Given the description of an element on the screen output the (x, y) to click on. 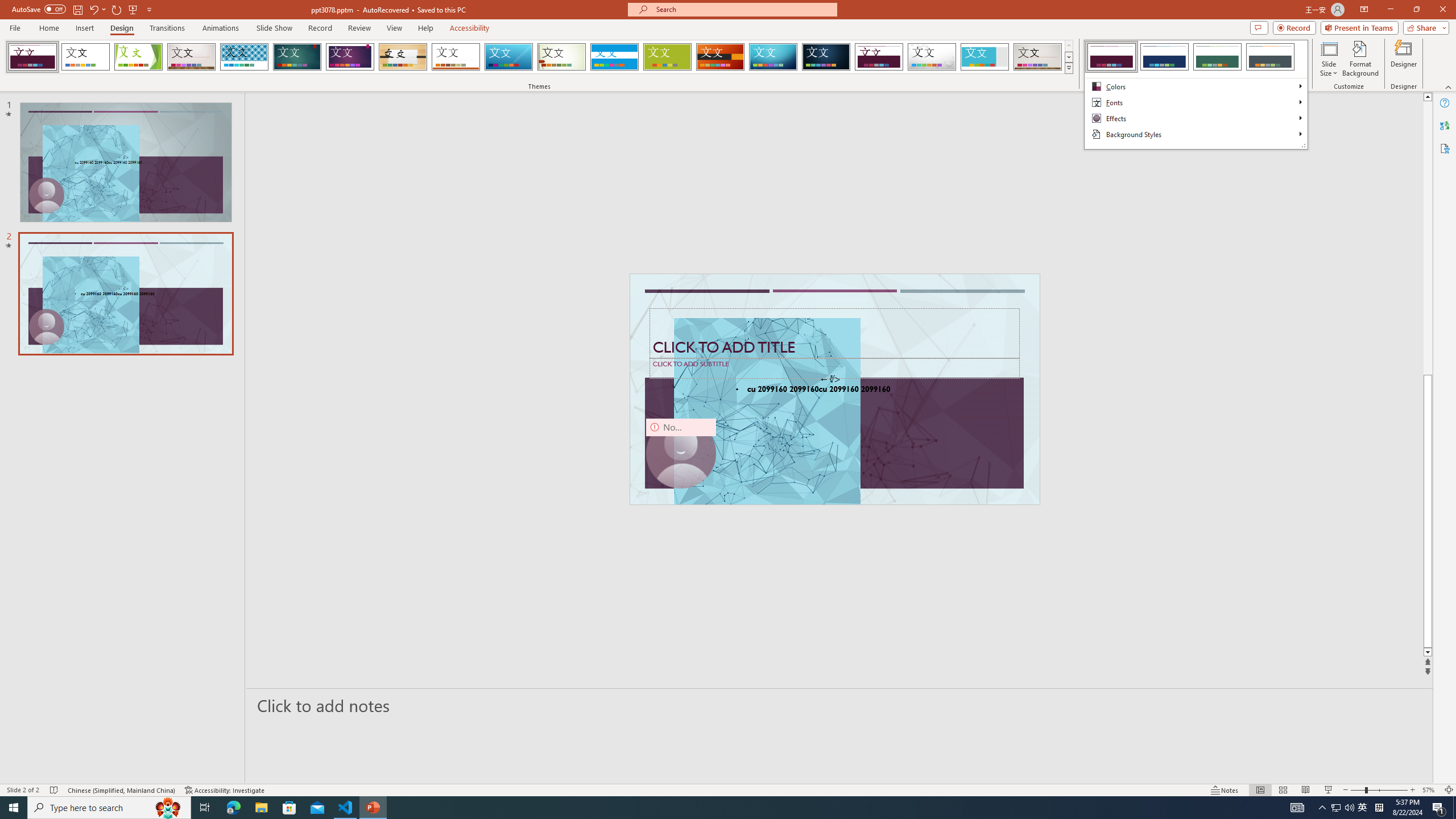
TextBox 7 (830, 379)
Slide Notes (839, 705)
Integral (244, 56)
Task View (204, 807)
Basis (667, 56)
AutomationID: SlideThemesGallery (539, 56)
Visual Studio Code - 1 running window (345, 807)
